Given the description of an element on the screen output the (x, y) to click on. 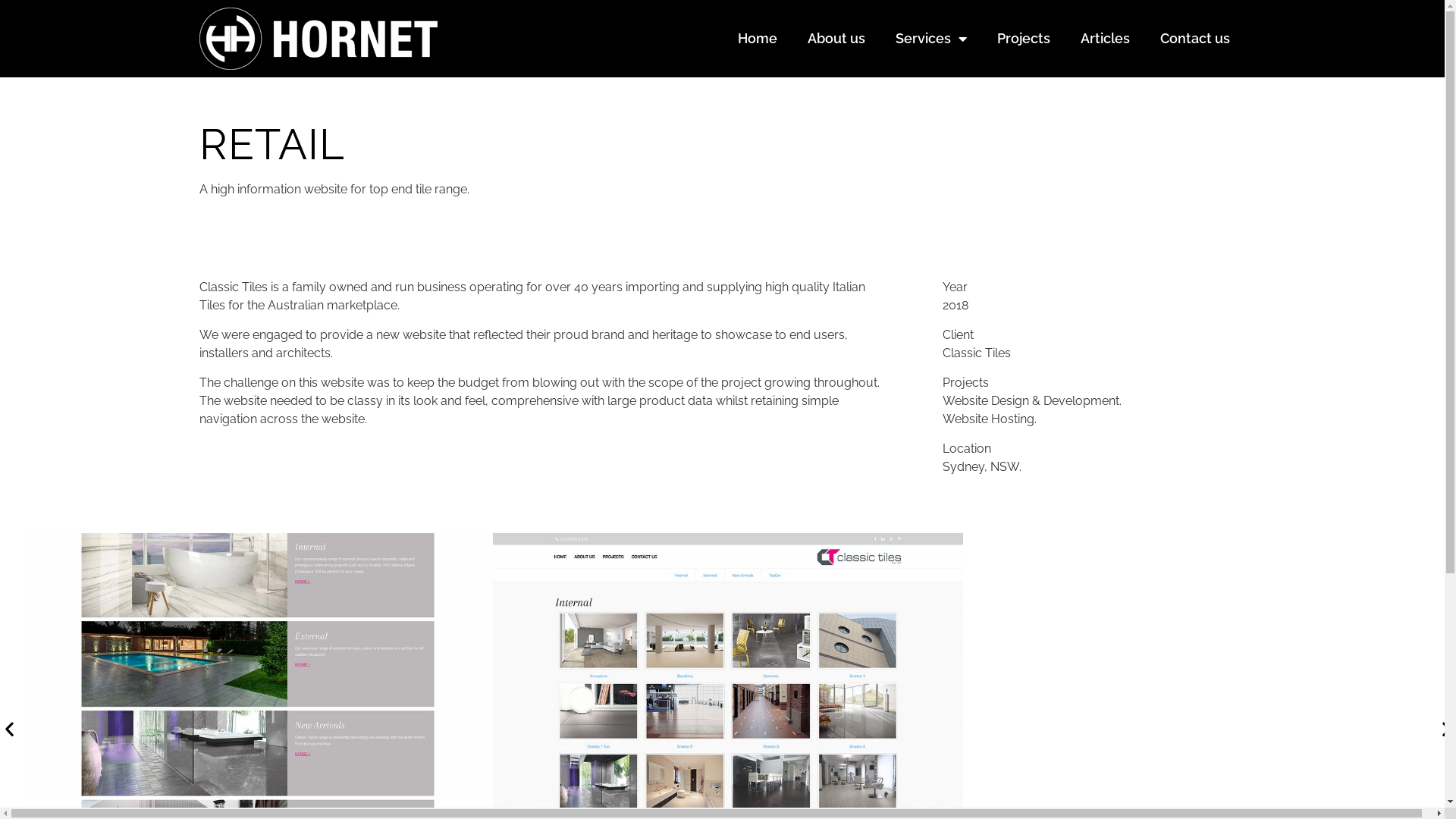
Projects Element type: text (1023, 38)
Services Element type: text (931, 38)
Contact us Element type: text (1195, 38)
Articles Element type: text (1105, 38)
About us Element type: text (836, 38)
Home Element type: text (757, 38)
